Given the description of an element on the screen output the (x, y) to click on. 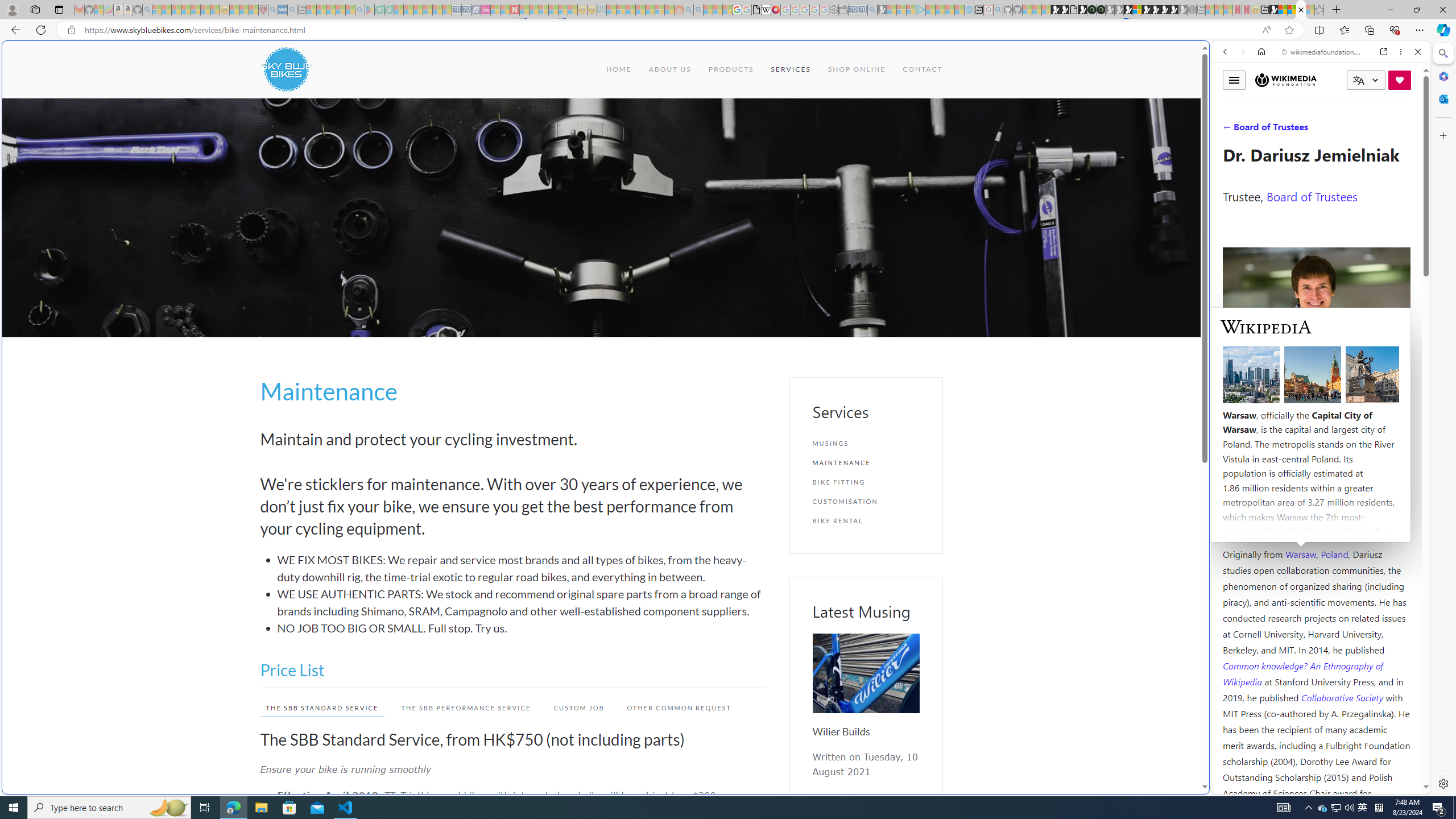
MSNBC - MSN - Sleeping (611, 9)
CONTACT (922, 68)
BIKE RENTAL (865, 520)
Home | Sky Blue Bikes - Sky Blue Bikes - Sleeping (968, 9)
Favorites - Sleeping (1318, 9)
Bing Real Estate - Home sales and rental listings - Sleeping (872, 9)
Future Focus Report 2024 (1100, 9)
